Given the description of an element on the screen output the (x, y) to click on. 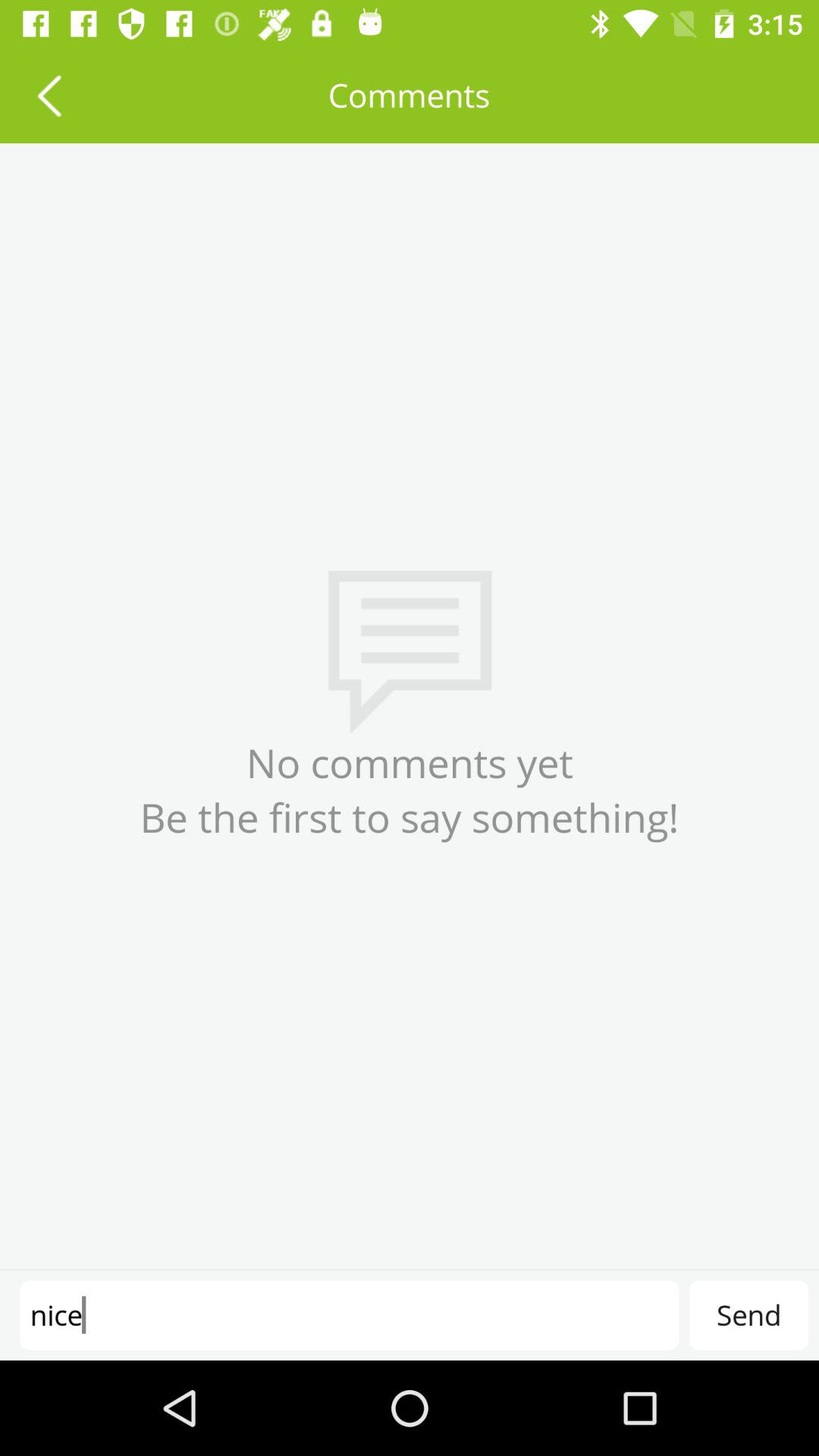
select the item next to comments icon (48, 95)
